Given the description of an element on the screen output the (x, y) to click on. 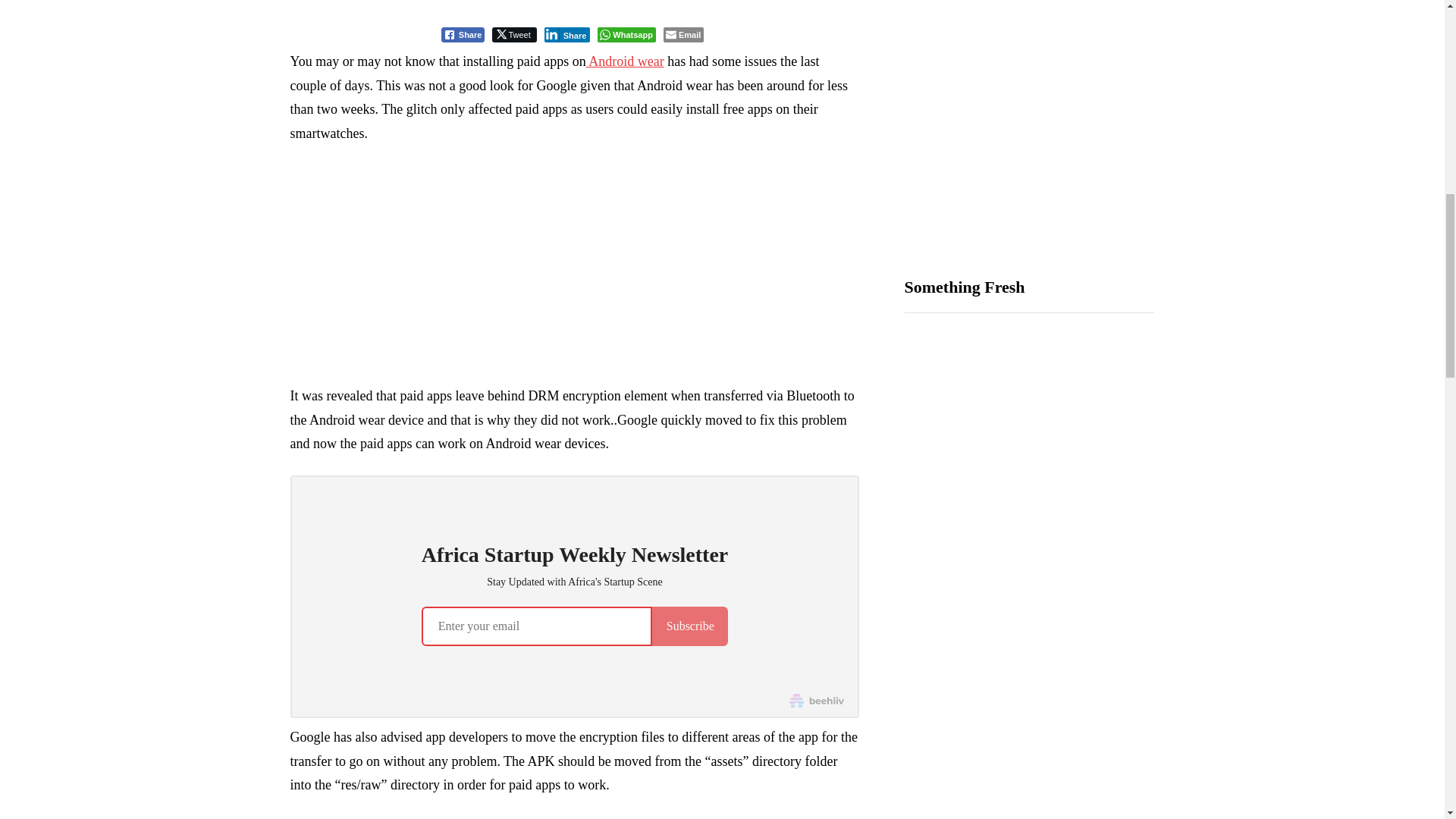
Share (567, 34)
Whatsapp (626, 34)
Email (683, 34)
Android wear (624, 61)
Share (462, 34)
Tweet (513, 34)
